Given the description of an element on the screen output the (x, y) to click on. 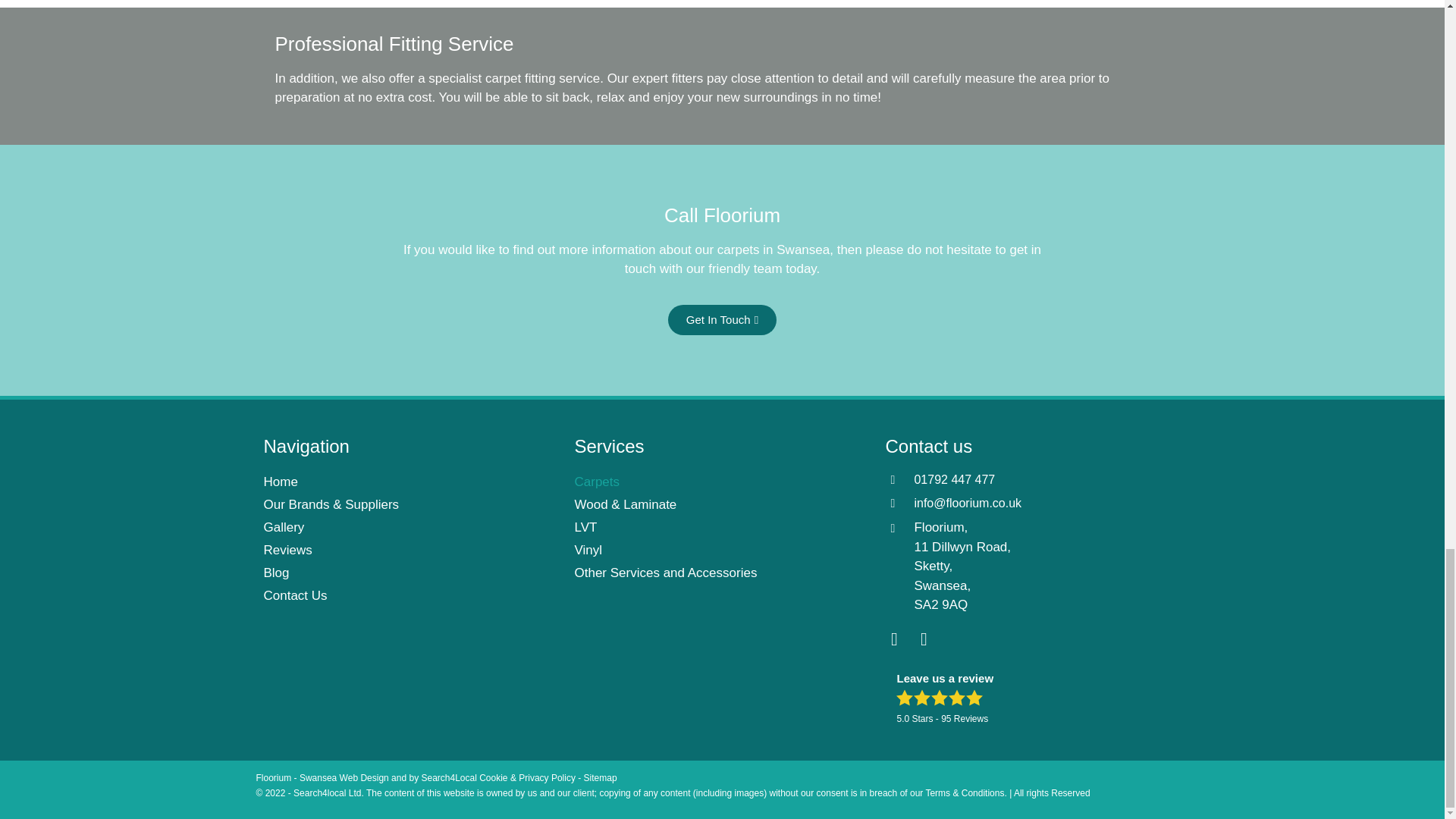
Contact Us (411, 595)
Reviews (411, 549)
Blog (411, 572)
Gallery (411, 527)
Home (411, 481)
Get In Touch (722, 319)
